Given the description of an element on the screen output the (x, y) to click on. 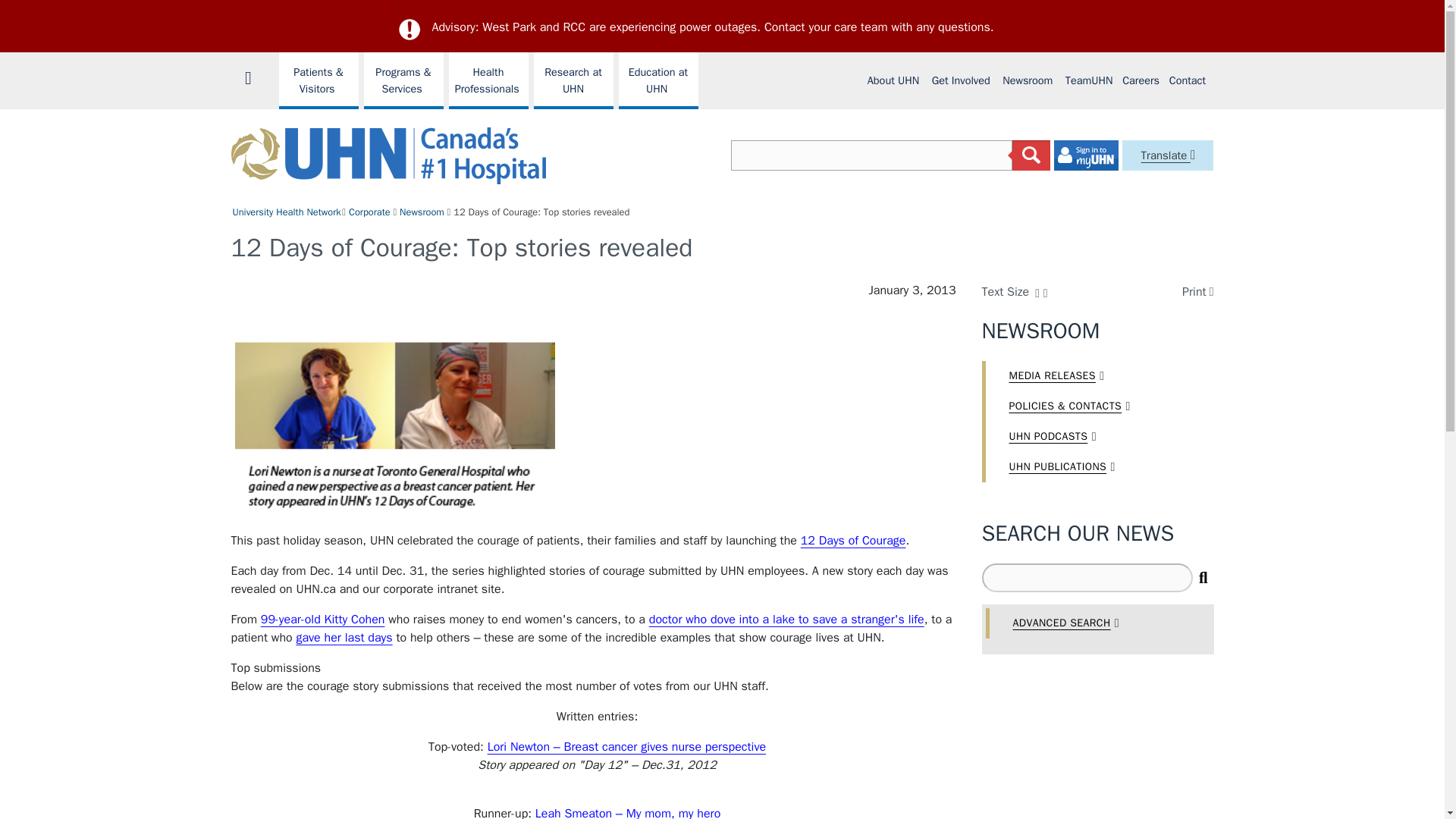
University Health Network Programs (318, 80)
University Health Network Home (253, 76)
